Given the description of an element on the screen output the (x, y) to click on. 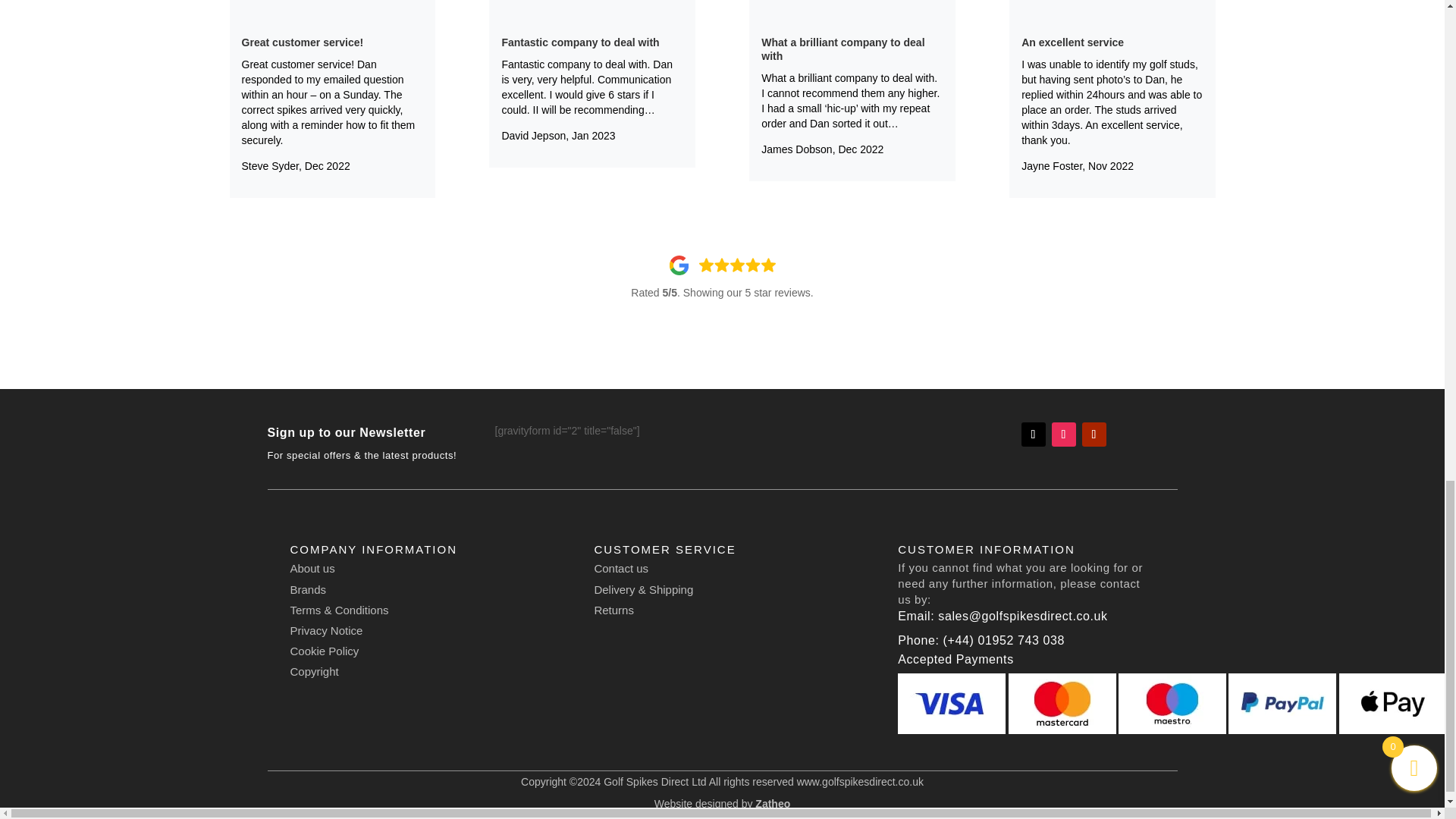
Follow on Youtube (1093, 434)
Follow on Instagram (1063, 434)
Follow on X (1032, 434)
google-star-rating-min-optimized (721, 265)
